Given the description of an element on the screen output the (x, y) to click on. 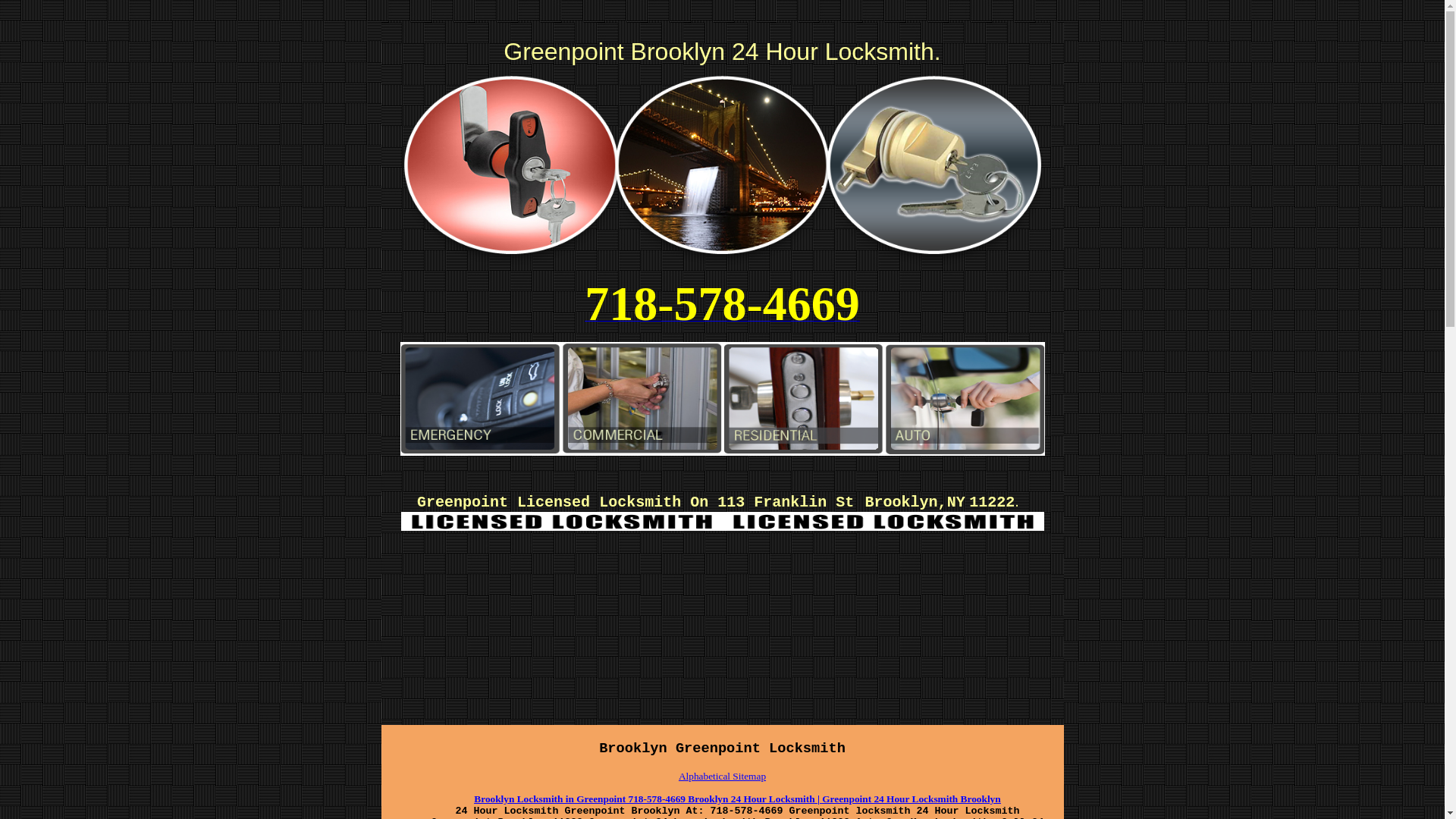
718-578-4669 Element type: text (721, 316)
licensed locksmith Brooklyn NYC Element type: hover (560, 520)
Alphabetical Sitemap Element type: text (721, 775)
Brooklyn NYC licensed locksmith Element type: hover (882, 520)
